Given the description of an element on the screen output the (x, y) to click on. 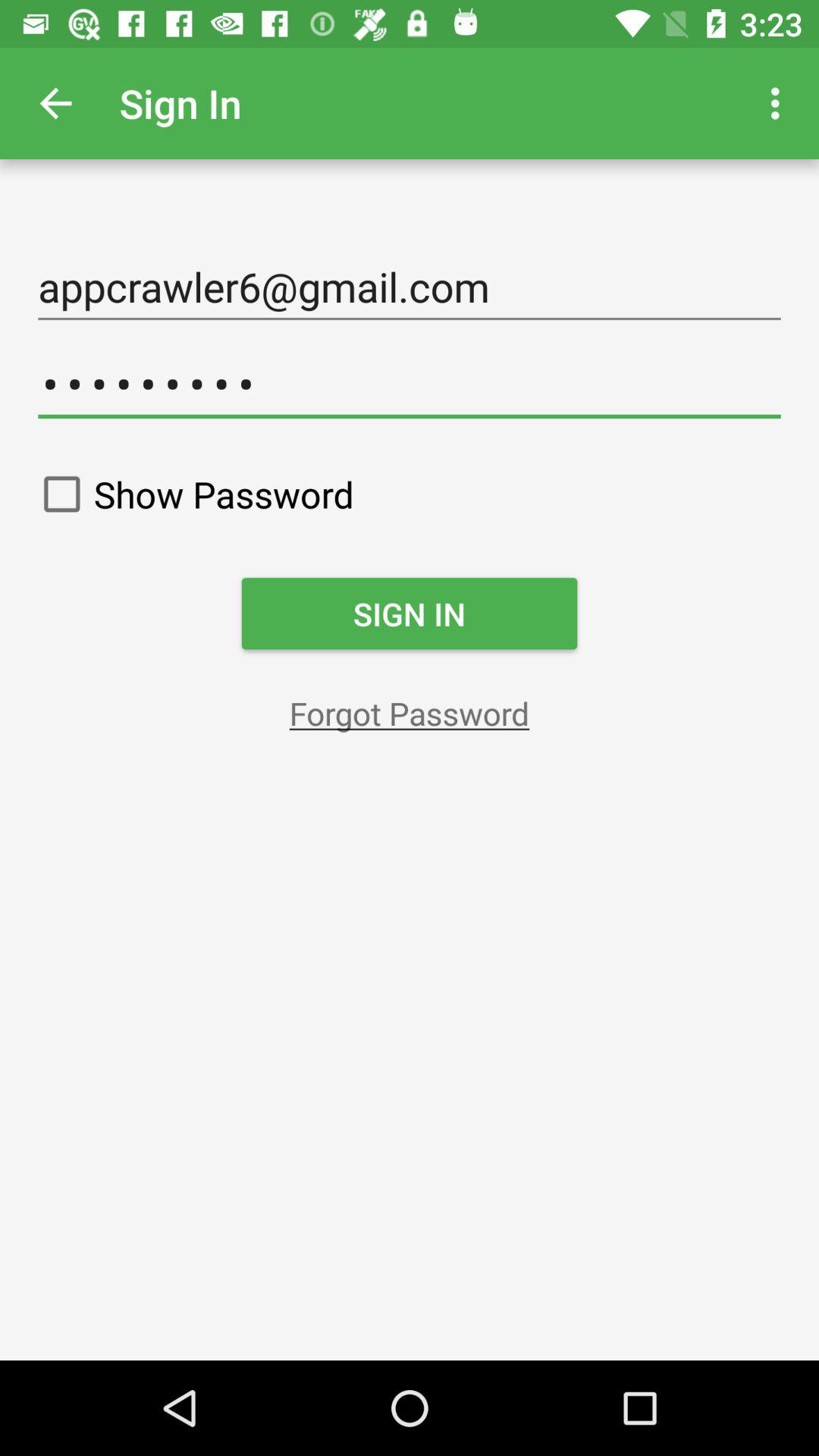
press show password (191, 494)
